Given the description of an element on the screen output the (x, y) to click on. 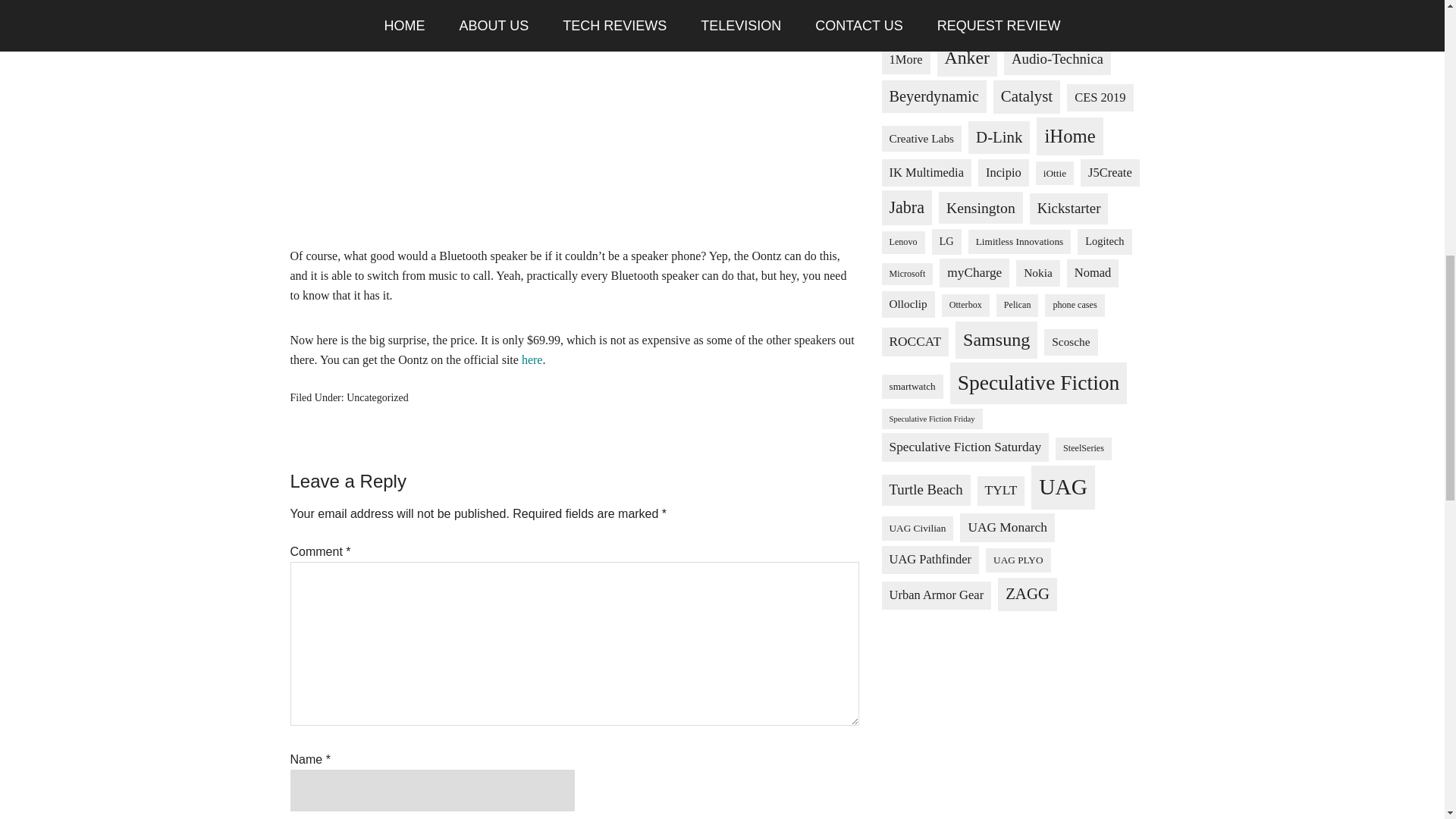
here (532, 359)
Anker (967, 57)
Audio-Technica (1057, 59)
1More (905, 59)
Advertisement (574, 140)
Advertisement (1017, 720)
